Given the description of an element on the screen output the (x, y) to click on. 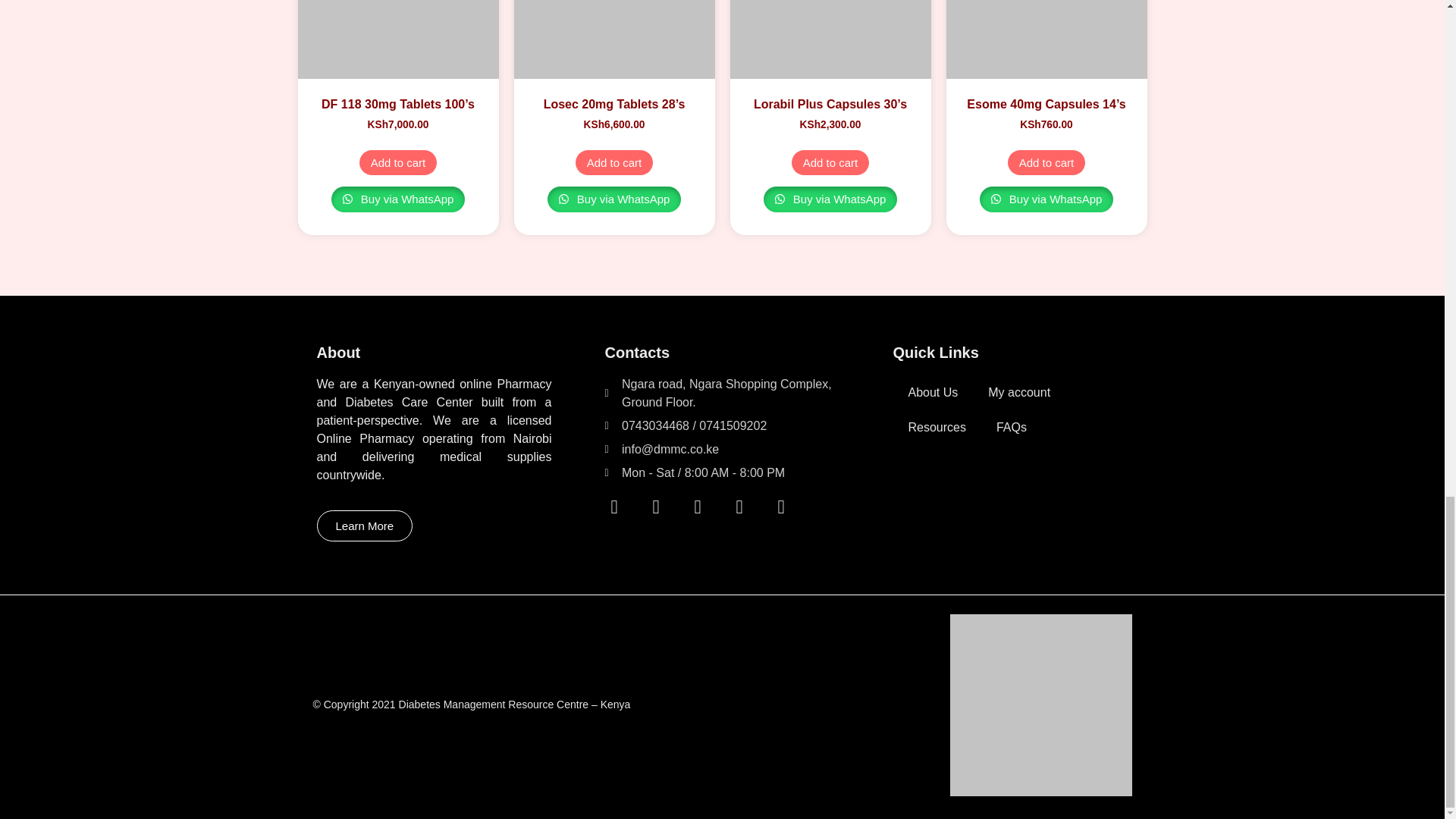
Complete order on WhatsApp to buy Losec 20mg Tablets 28's (614, 199)
Complete order on WhatsApp to buy Esome 40mg Capsules 14's (1046, 199)
Complete order on WhatsApp to buy Lorabil Plus Capsules 30's (830, 199)
Complete order on WhatsApp to buy DF 118 30mg Tablets 100's (398, 199)
